Given the description of an element on the screen output the (x, y) to click on. 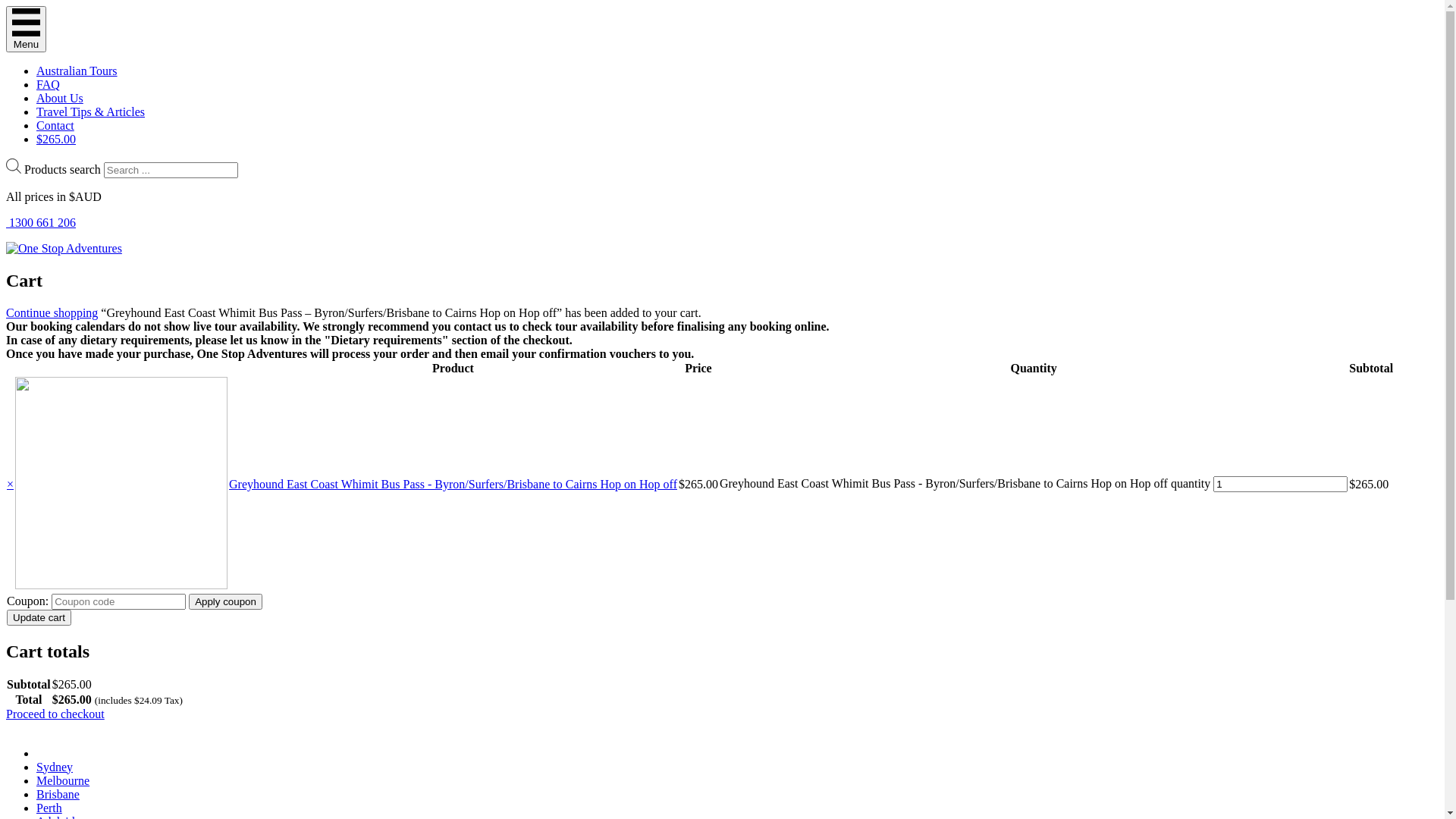
Australian Tours Element type: text (76, 70)
Apply coupon Element type: text (225, 601)
Brisbane Element type: text (57, 793)
$265.00 Element type: text (55, 138)
 1300 661 206 Element type: text (722, 222)
Perth Element type: text (49, 807)
Melbourne Element type: text (62, 780)
Continue shopping Element type: text (51, 312)
About Us Element type: text (59, 97)
Menu Element type: text (26, 29)
Qty Element type: hover (1280, 484)
Travel Tips & Articles Element type: text (90, 111)
Proceed to checkout Element type: text (55, 713)
Update cart Element type: text (38, 617)
Transparent Background 600 x 150 px Element type: hover (64, 248)
Sydney Element type: text (54, 766)
FAQ Element type: text (47, 84)
Contact Element type: text (55, 125)
